Given the description of an element on the screen output the (x, y) to click on. 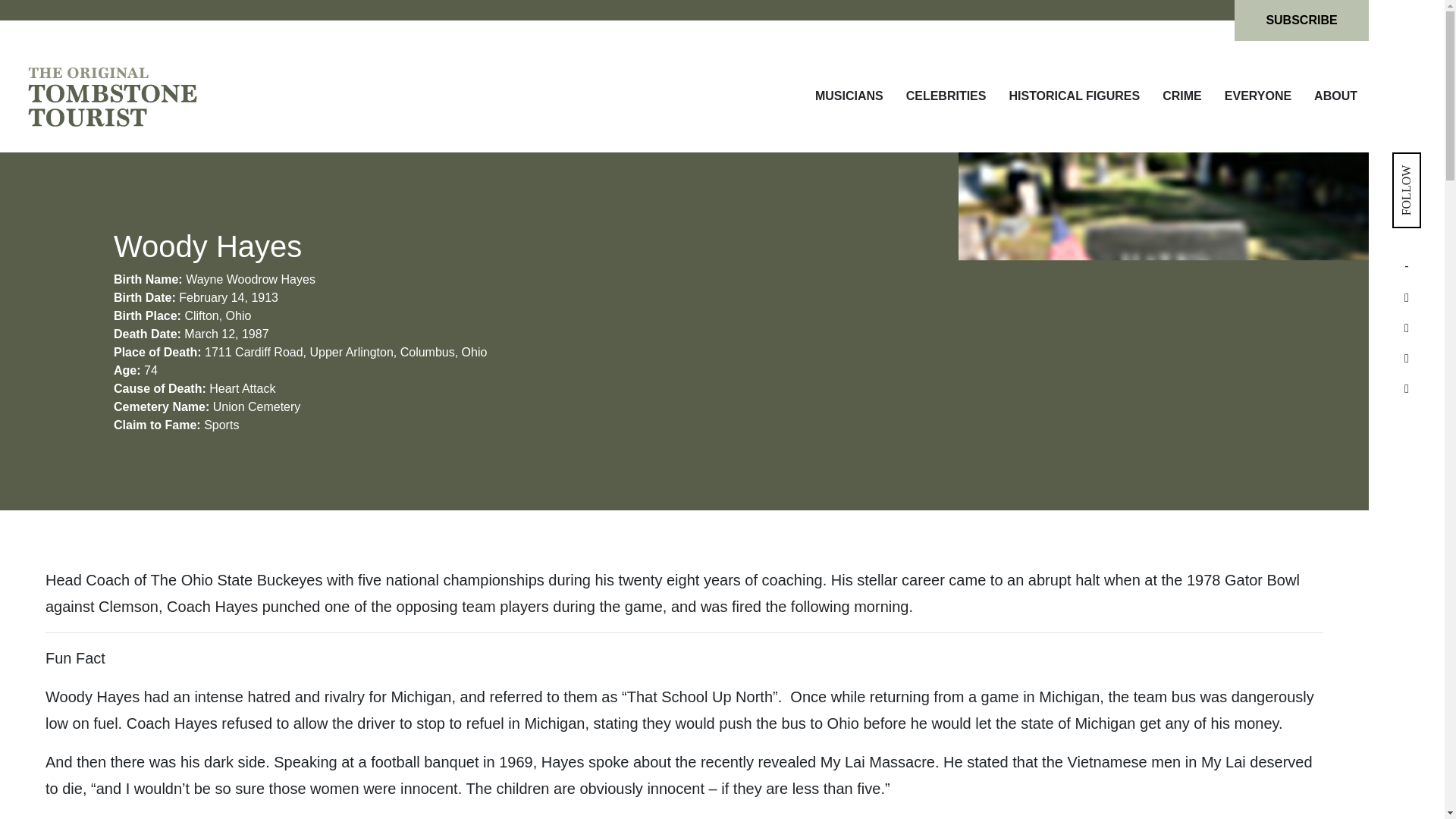
CRIME (1181, 95)
CELEBRITIES (946, 95)
MUSICIANS (849, 95)
ABOUT (1335, 95)
HISTORICAL FIGURES (1074, 95)
SUBSCRIBE (1301, 20)
EVERYONE (1257, 95)
